Given the description of an element on the screen output the (x, y) to click on. 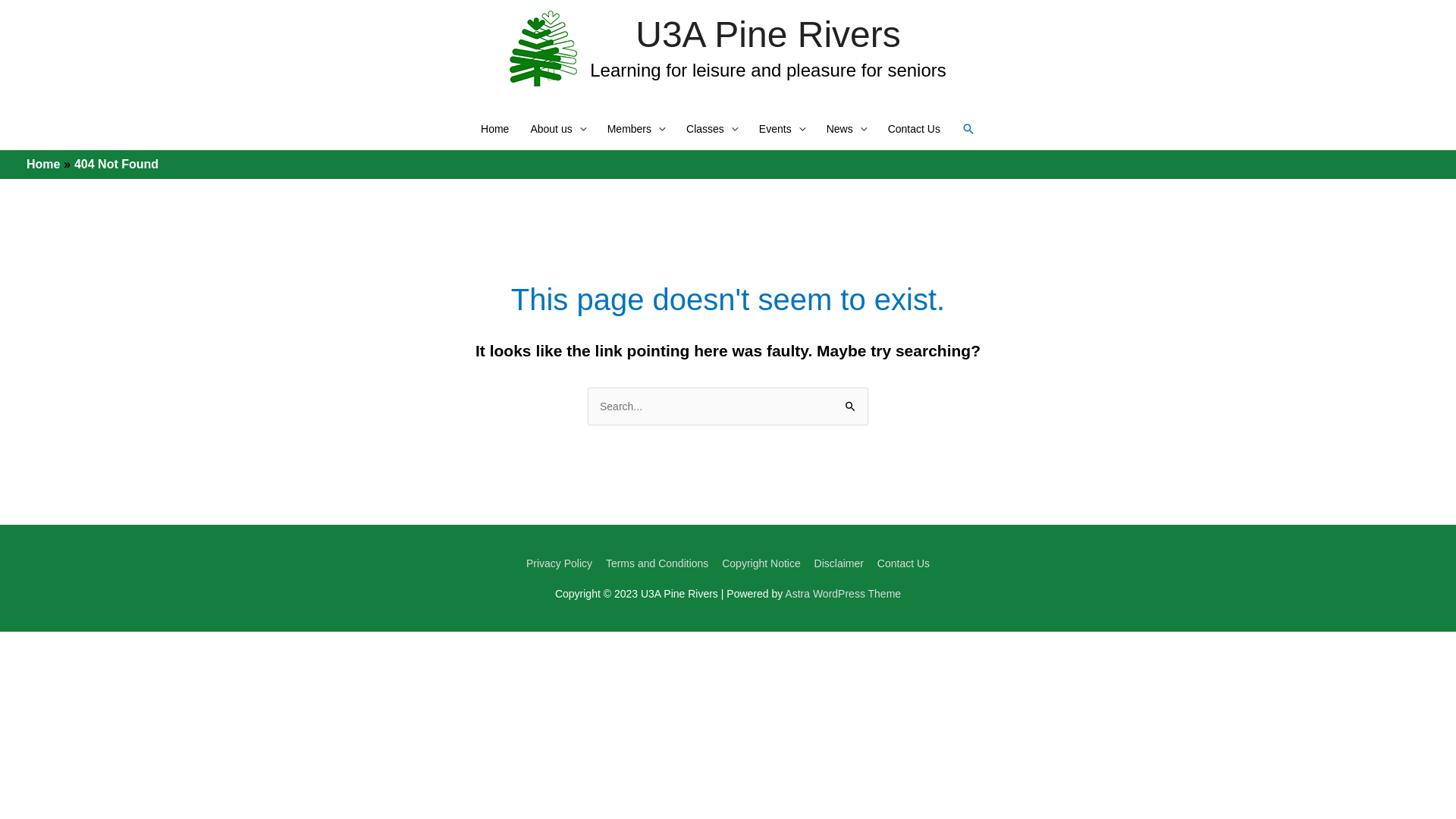
Home Element type: text (494, 128)
Events Element type: text (781, 128)
About us Element type: text (557, 128)
Astra WordPress Theme Element type: text (842, 593)
News Element type: text (846, 128)
U3A Pine Rivers Element type: text (767, 34)
Members Element type: text (635, 128)
Home Element type: text (42, 163)
Contact Us Element type: text (900, 563)
Classes Element type: text (711, 128)
Copyright Notice Element type: text (761, 563)
Search Element type: text (851, 406)
Contact Us Element type: text (913, 128)
Privacy Policy Element type: text (561, 563)
Search Element type: text (968, 128)
Disclaimer Element type: text (839, 563)
Terms and Conditions Element type: text (656, 563)
